Given the description of an element on the screen output the (x, y) to click on. 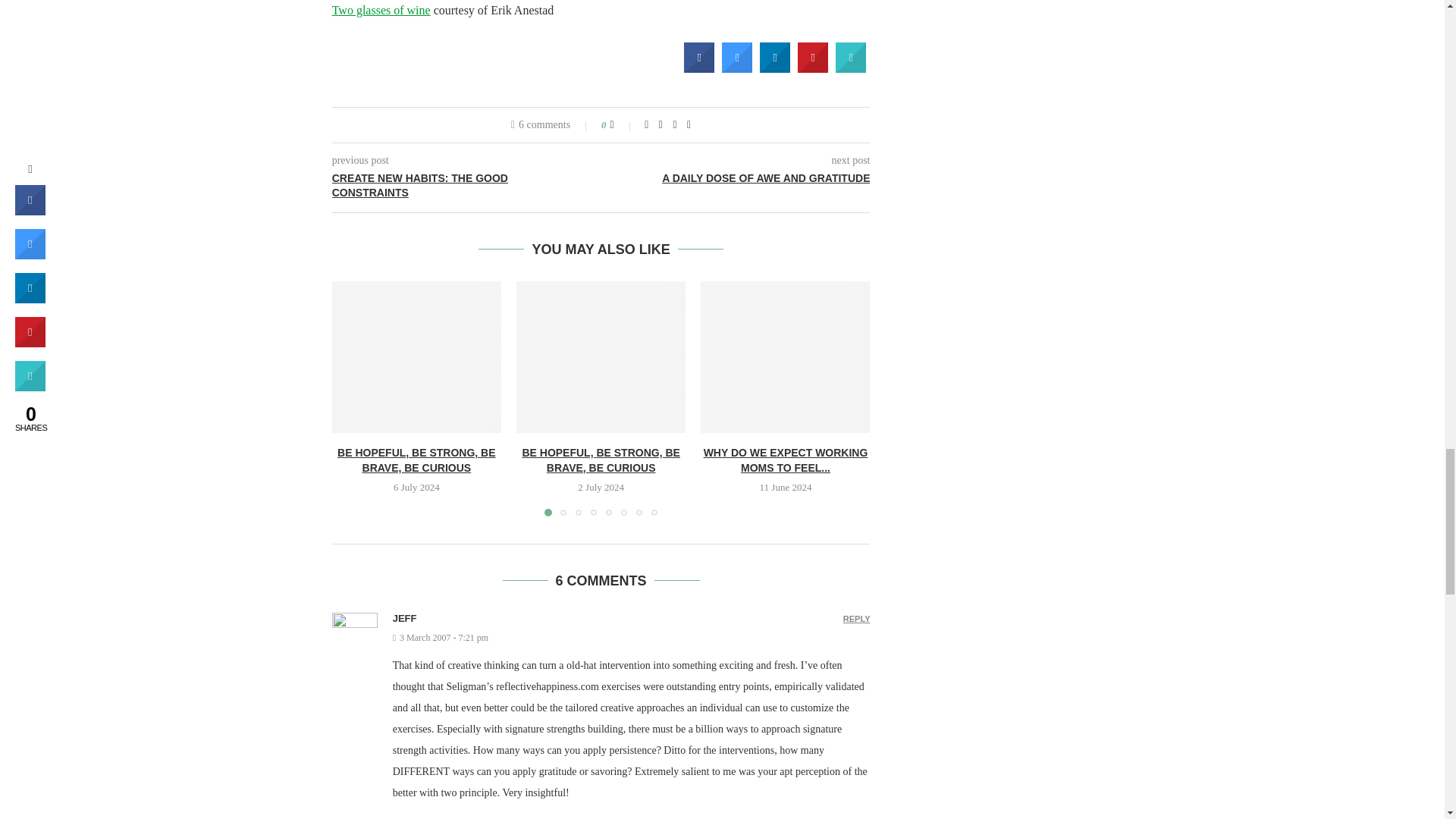
Share on Twitter (737, 68)
Share on Facebook (699, 68)
Share to LinkedIn (775, 68)
Share on Pinterest (812, 68)
